Given the description of an element on the screen output the (x, y) to click on. 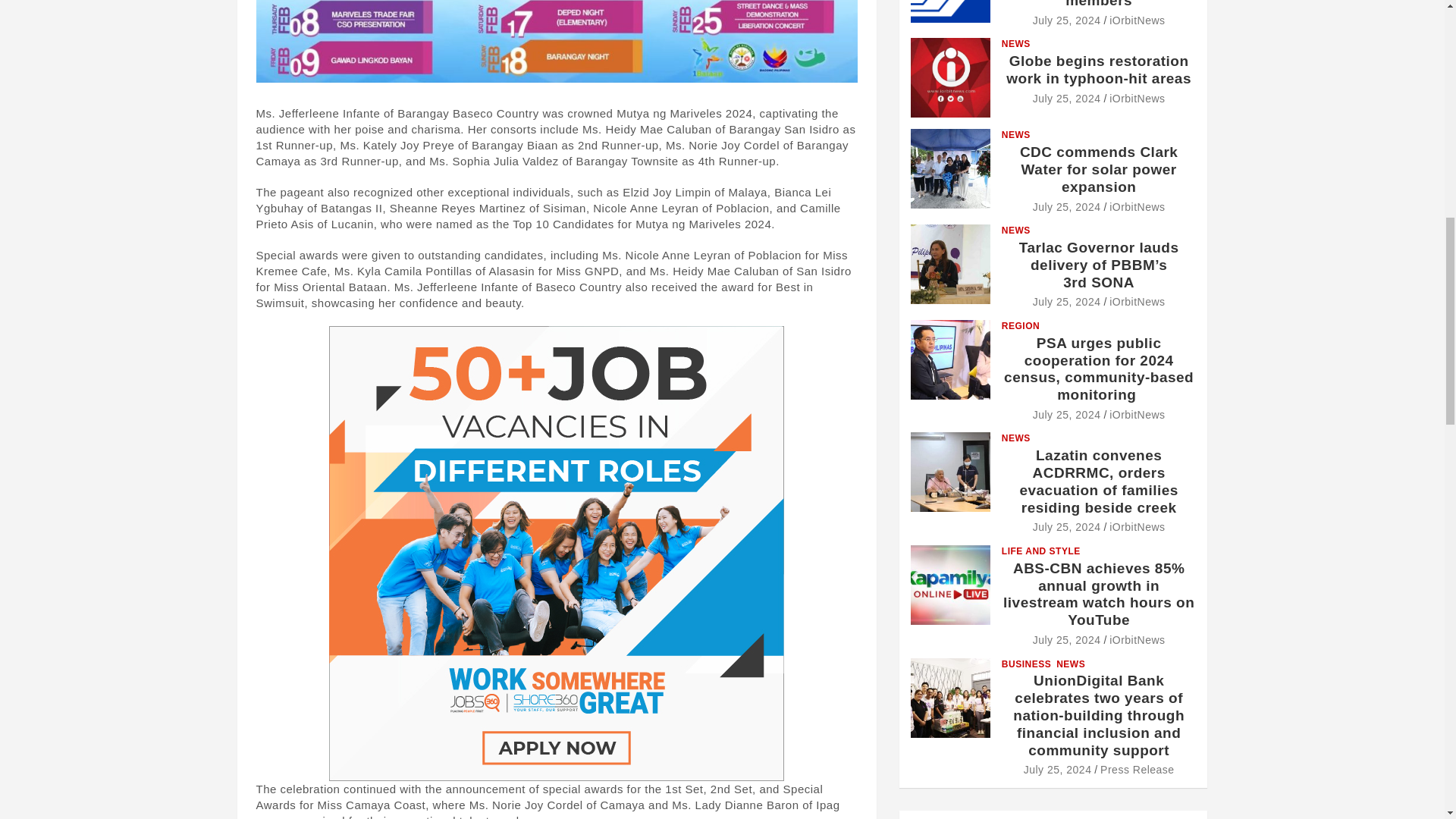
Globe begins restoration work in typhoon-hit areas (1066, 98)
